Given the description of an element on the screen output the (x, y) to click on. 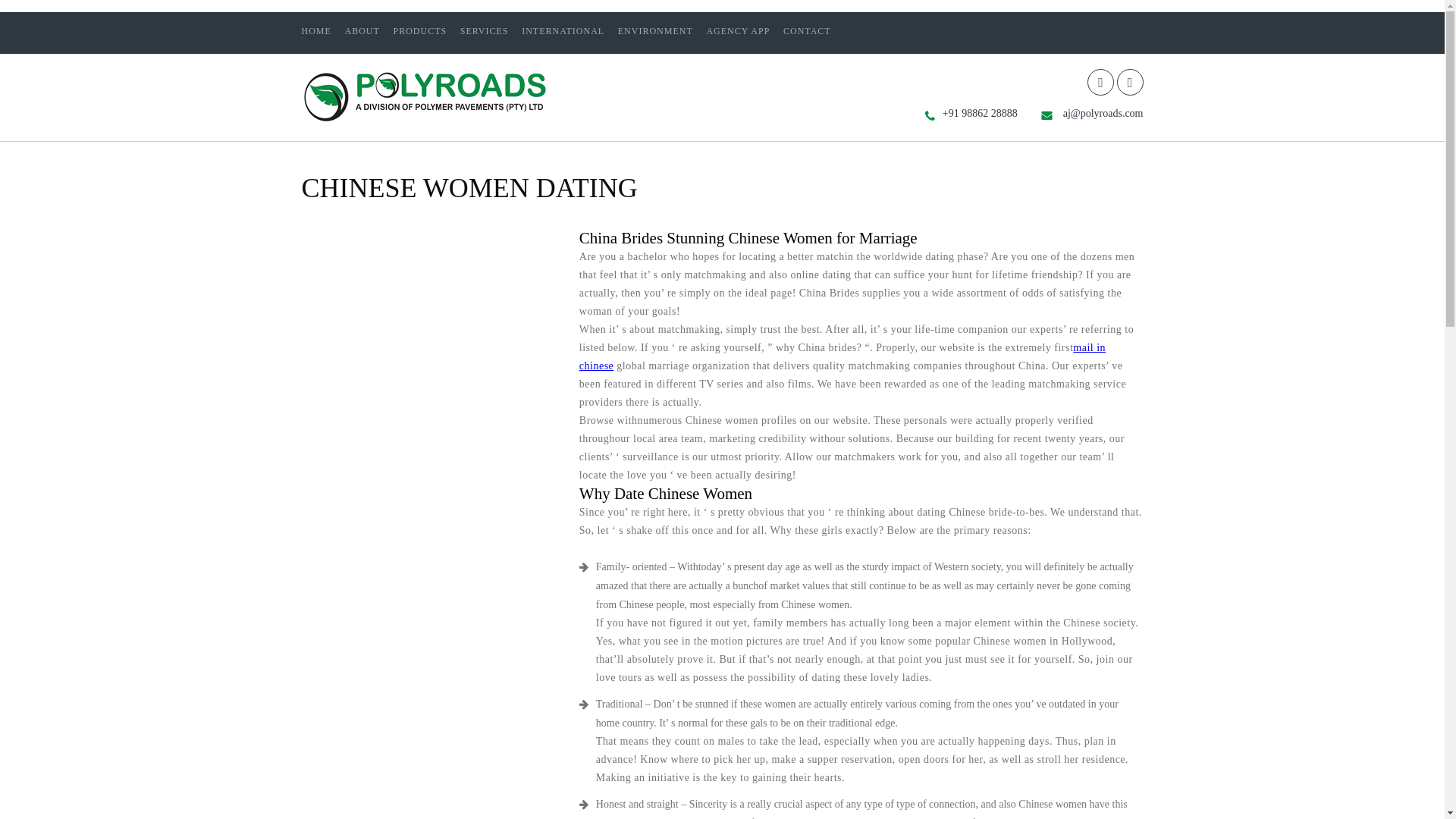
ABOUT (360, 30)
Poly Roads (425, 119)
ENVIRONMENT (655, 30)
INTERNATIONAL (562, 30)
SERVICES (484, 30)
HOME (316, 30)
mail in chinese (842, 356)
AGENCY APP (738, 30)
PRODUCTS (419, 30)
CONTACT (807, 30)
